Given the description of an element on the screen output the (x, y) to click on. 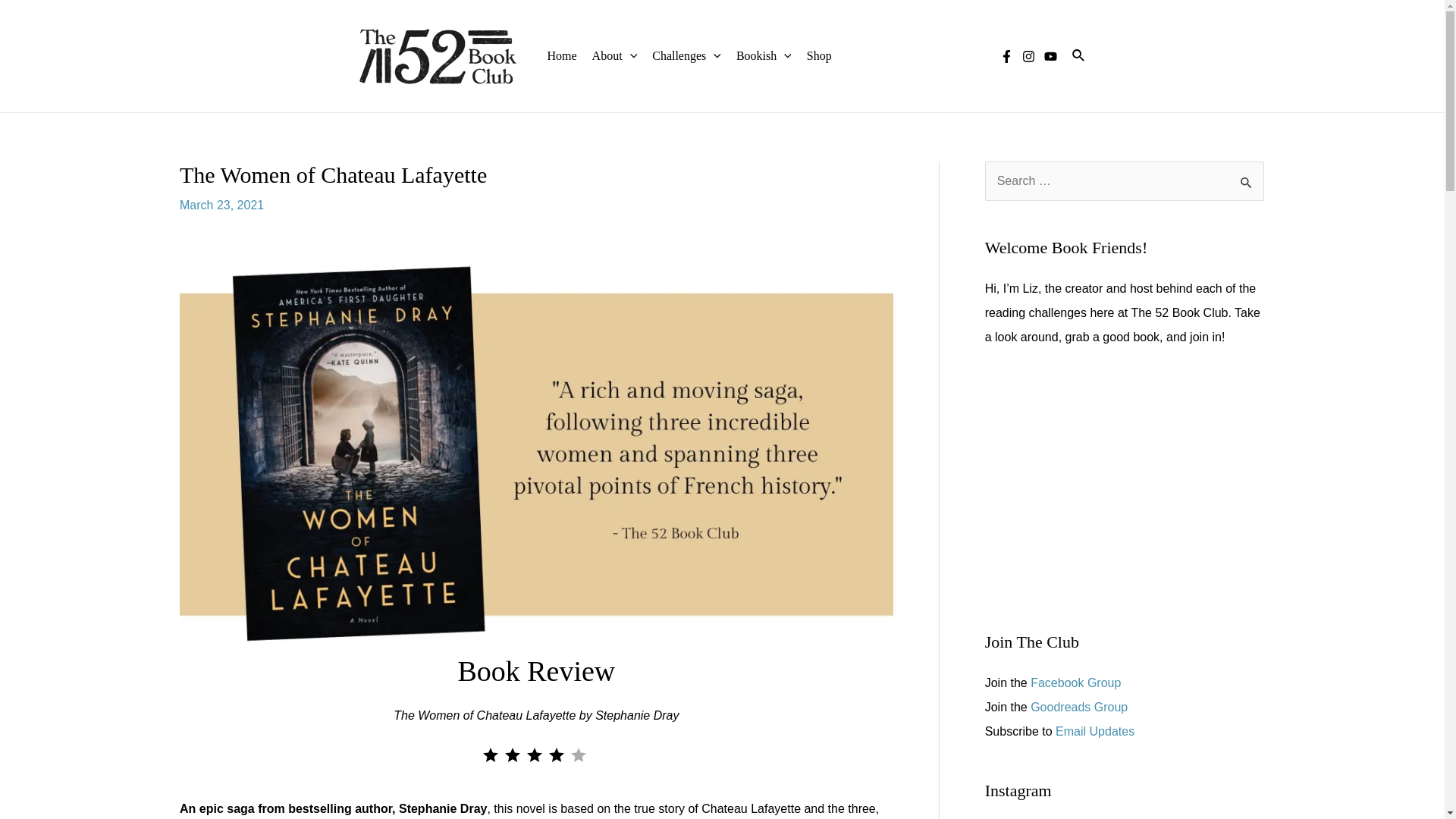
Advertisement (1124, 490)
Search (1246, 177)
Search (1246, 177)
